Given the description of an element on the screen output the (x, y) to click on. 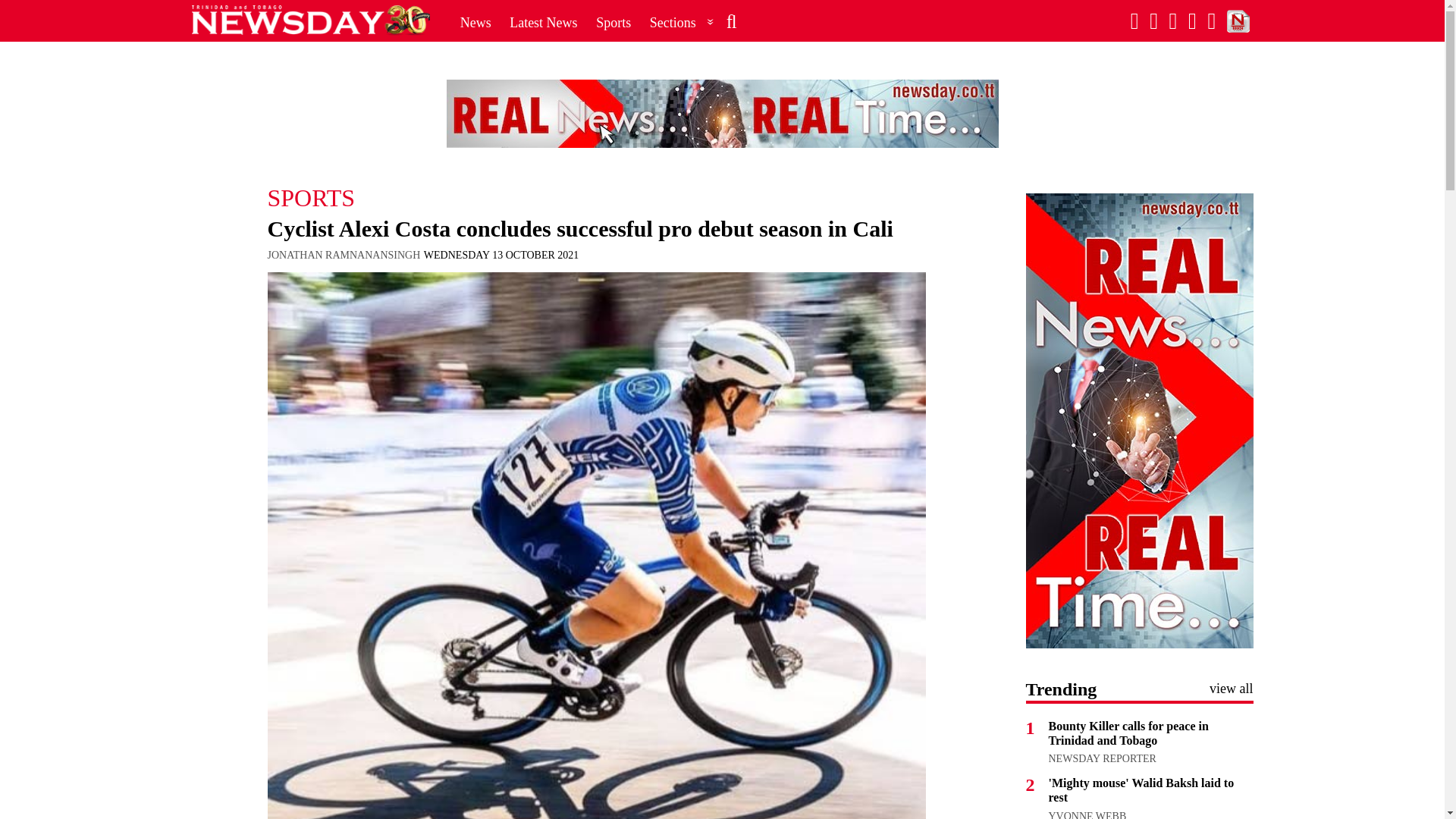
Wednesday 13 October 2021 (500, 254)
'Mighty mouse' Walid Baksh laid to rest (1140, 789)
Sections (682, 22)
NEWSDAY REPORTER (1102, 758)
News (475, 22)
Latest News (543, 22)
SPORTS (595, 197)
JONATHAN RAMNANANSINGH (343, 255)
YVONNE WEBB (1086, 814)
Sections (682, 22)
